Given the description of an element on the screen output the (x, y) to click on. 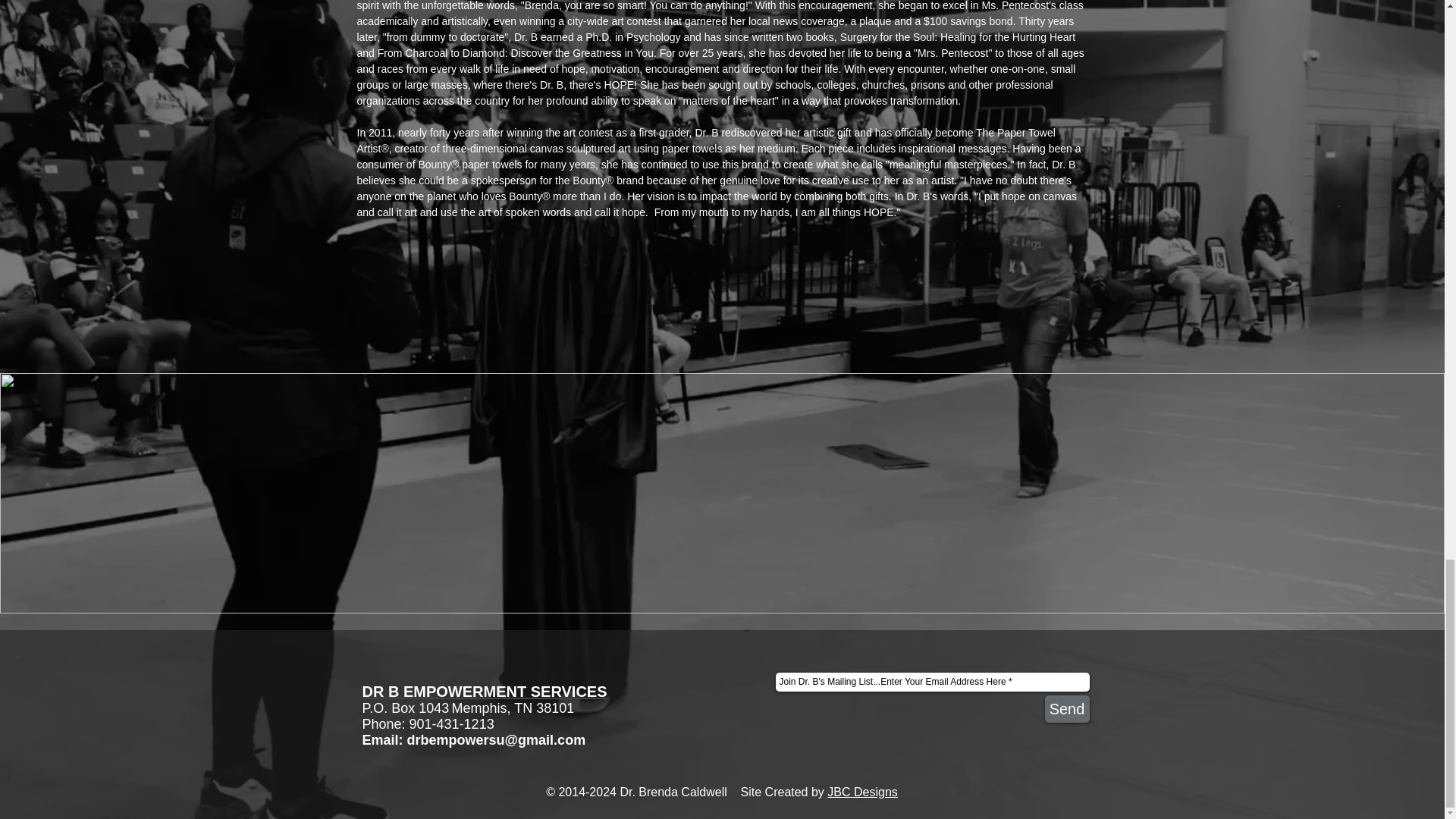
Send (1067, 708)
External YouTube (532, 493)
External YouTube (911, 493)
JBC Designs (861, 791)
